Given the description of an element on the screen output the (x, y) to click on. 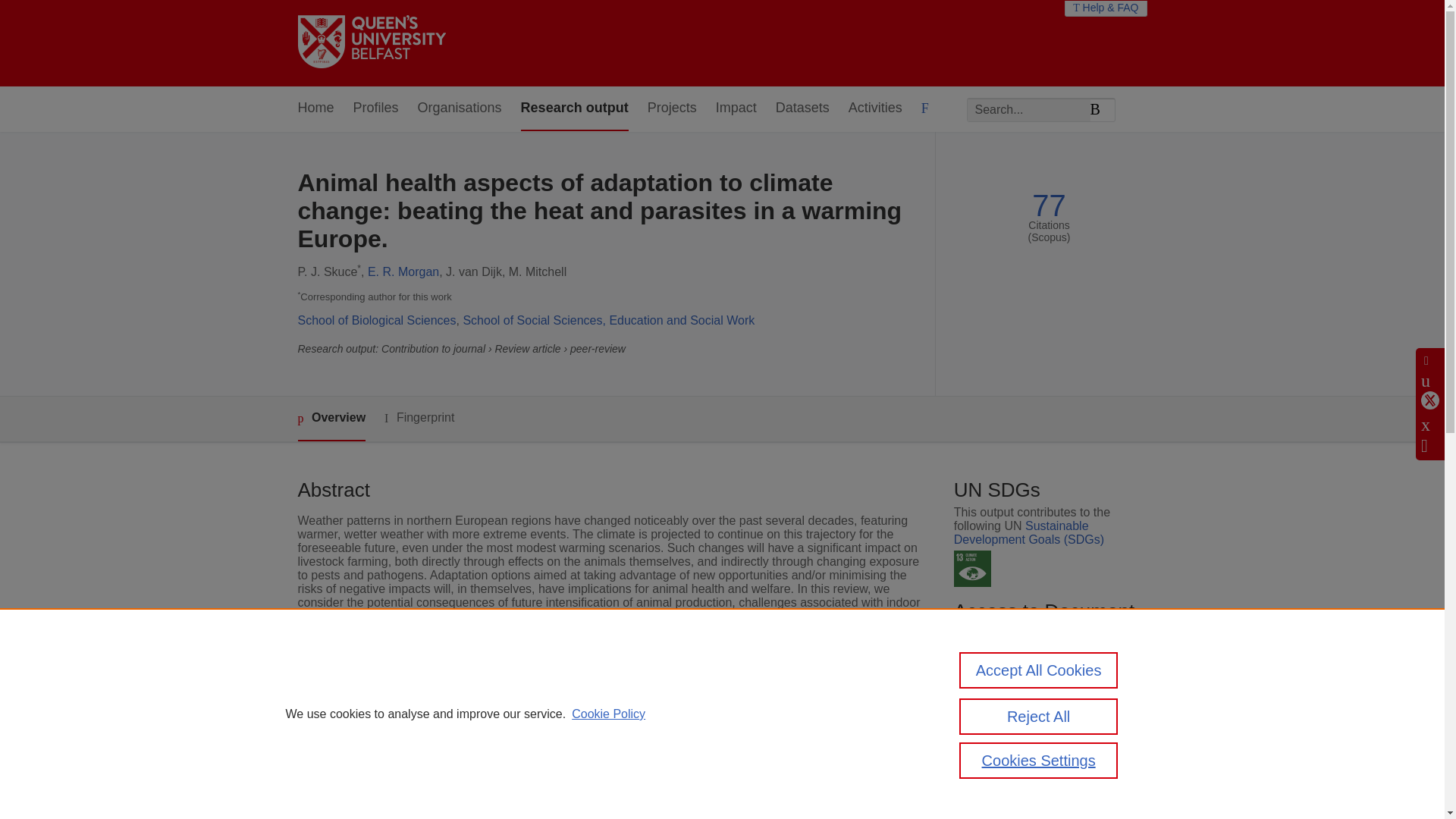
Datasets (802, 108)
Queen's University Belfast Home (371, 43)
Activities (875, 108)
Fingerprint (419, 417)
Profiles (375, 108)
Research output (574, 108)
77 (1048, 205)
Organisations (459, 108)
Animal (530, 748)
Link to publication in Scopus (1045, 693)
Projects (672, 108)
SDG 13 - Climate Action (972, 569)
Overview (331, 418)
School of Social Sciences, Education and Social Work (608, 319)
